Given the description of an element on the screen output the (x, y) to click on. 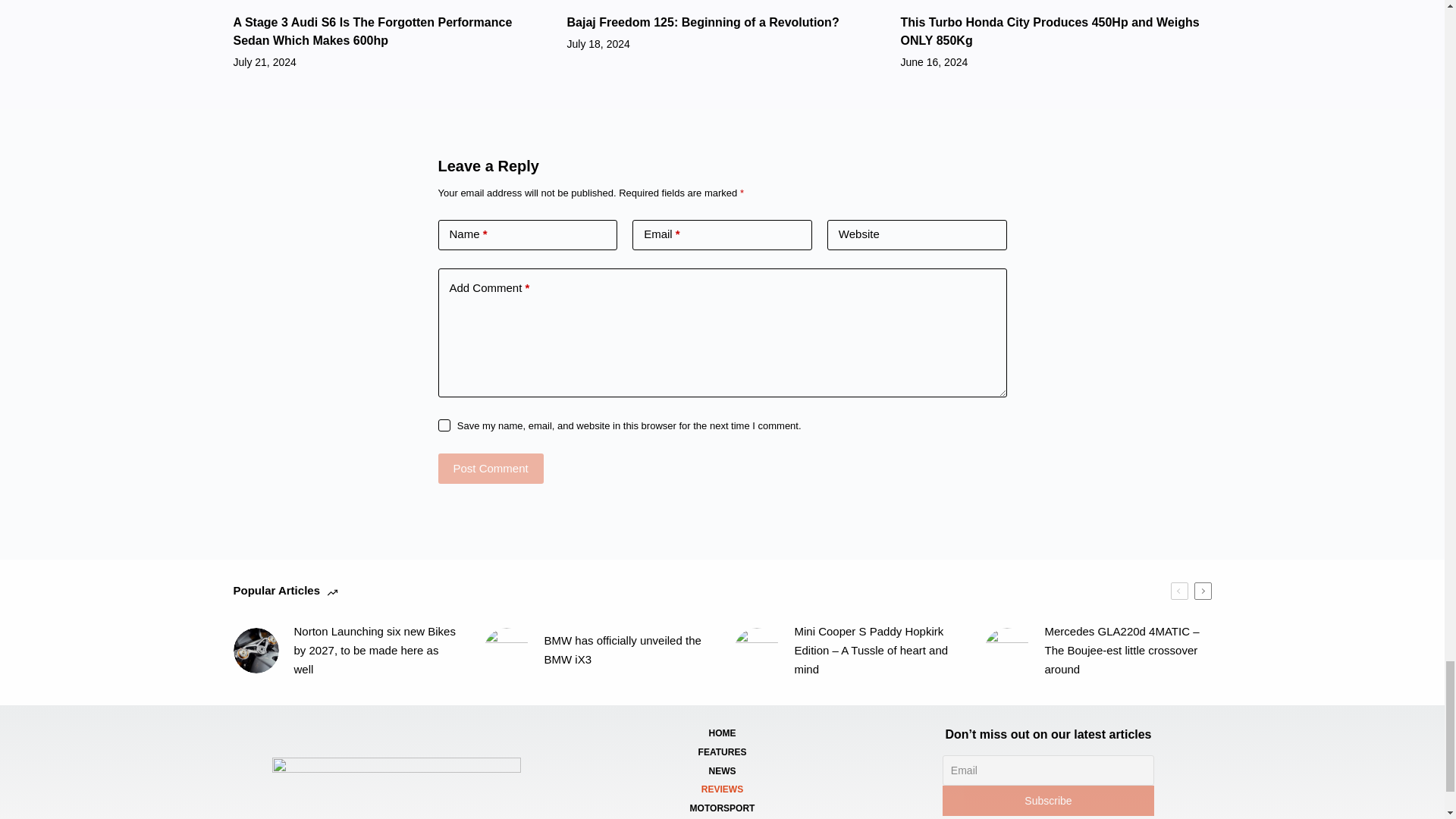
Subscribe (1048, 800)
yes (443, 425)
